Given the description of an element on the screen output the (x, y) to click on. 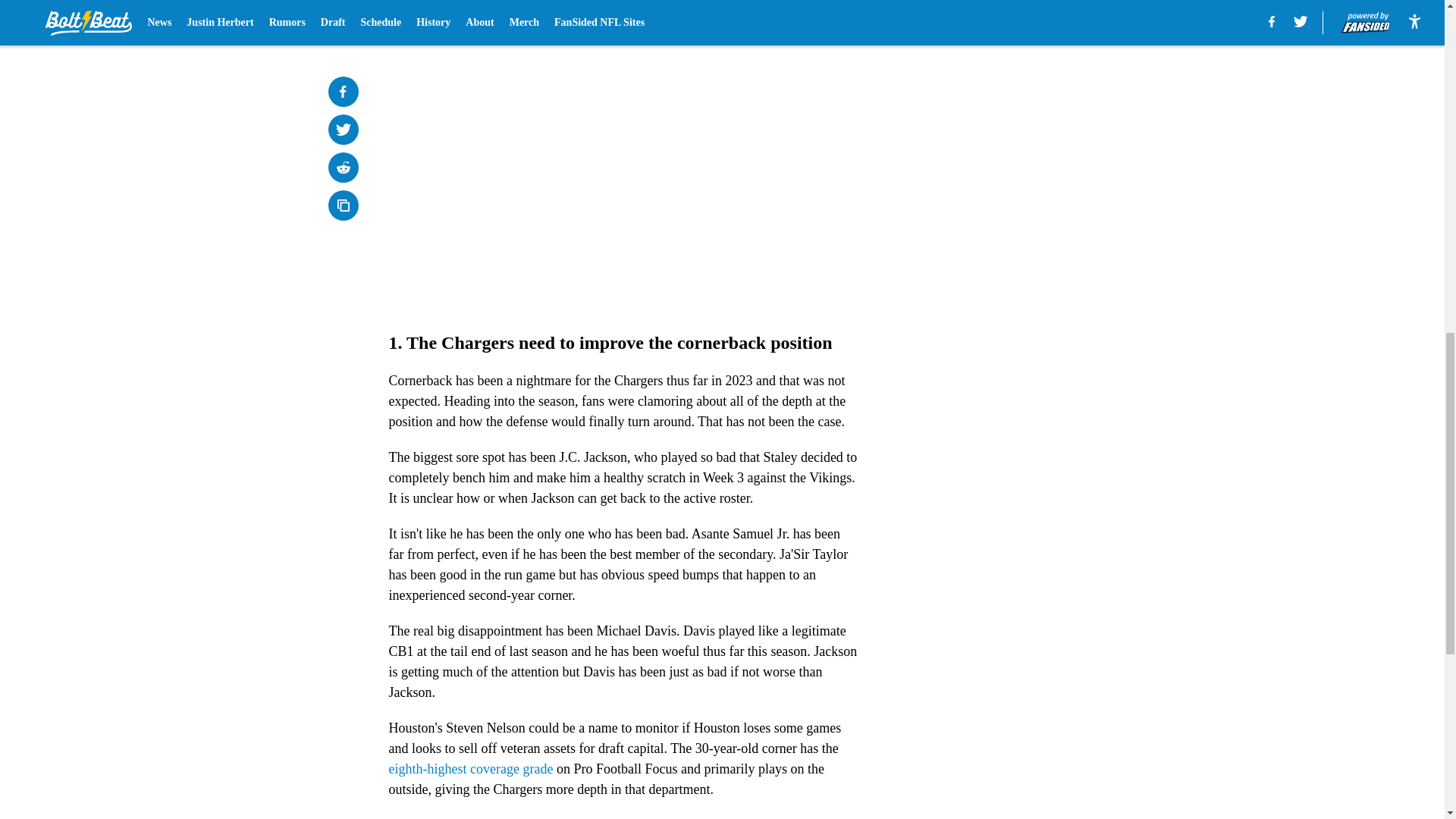
Prev (433, 20)
eighth-highest coverage grade (470, 768)
Next (813, 20)
